Given the description of an element on the screen output the (x, y) to click on. 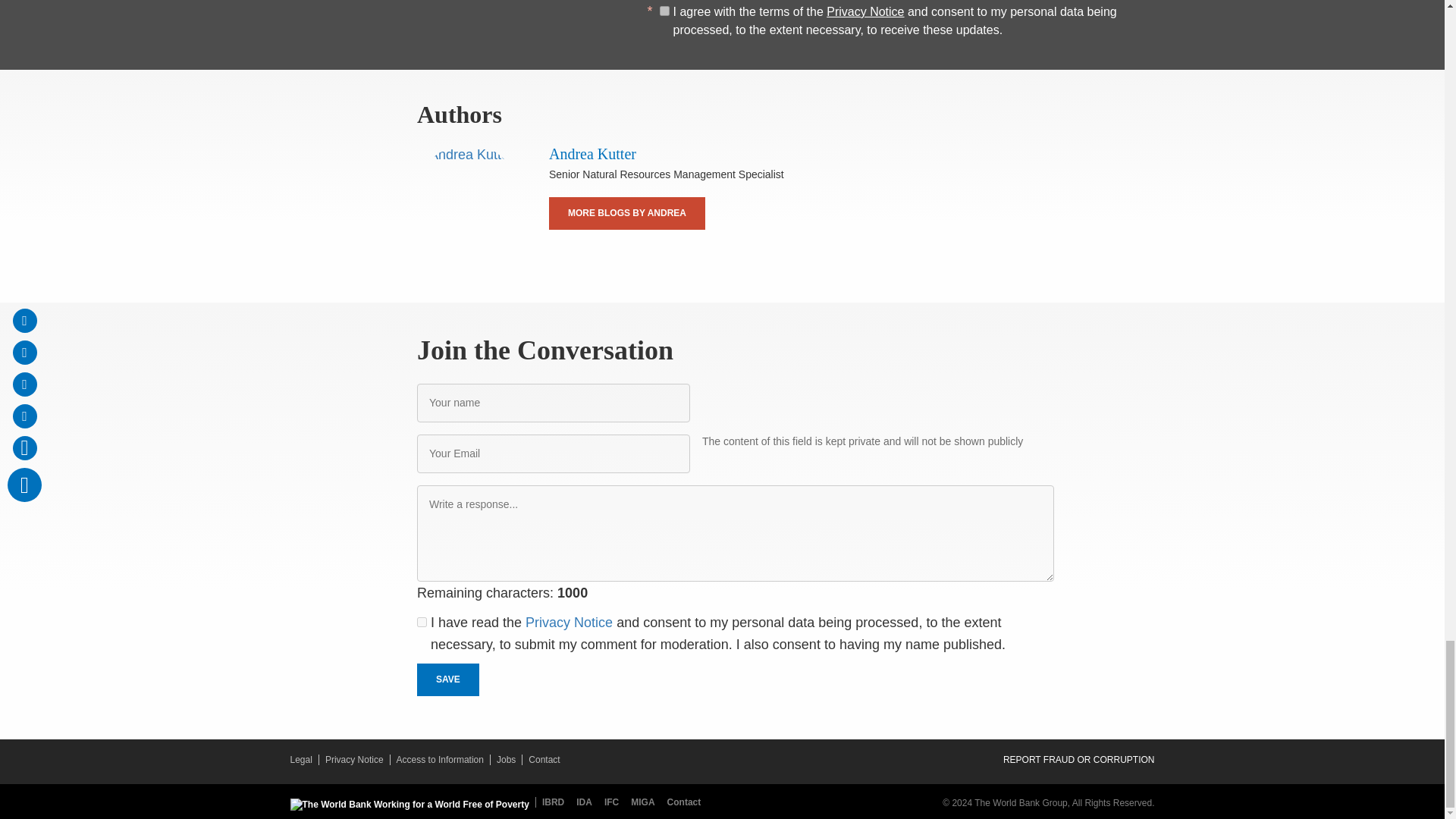
Andrea Kutter (467, 194)
Your name (553, 403)
IBRD (552, 801)
Contact (683, 801)
IFC (614, 801)
1 (421, 622)
1 (664, 10)
The World Bank Working for a World Free of Poverty (408, 804)
IDA (587, 801)
MIGA (645, 801)
